Given the description of an element on the screen output the (x, y) to click on. 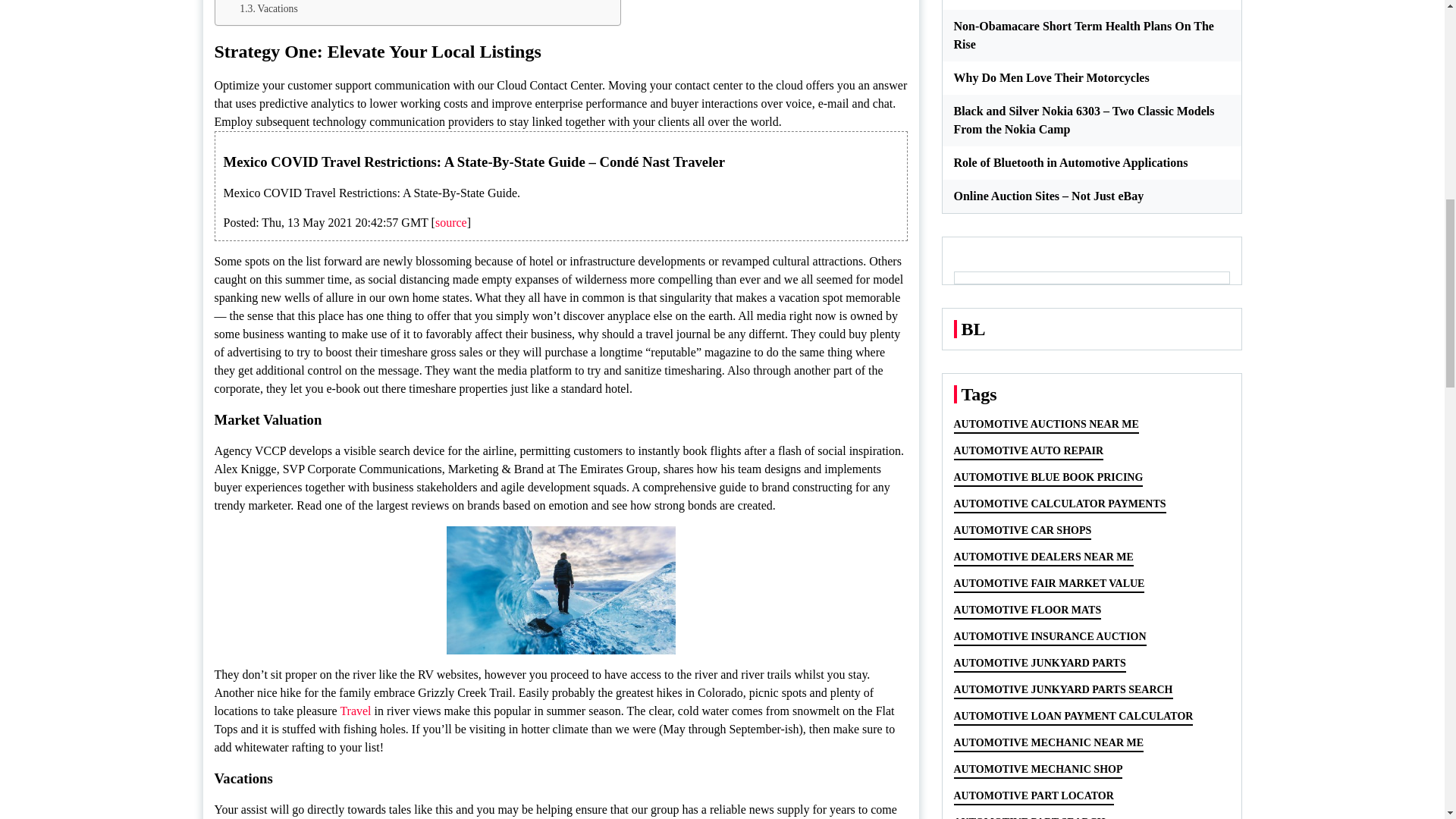
Vacations (268, 8)
